Given the description of an element on the screen output the (x, y) to click on. 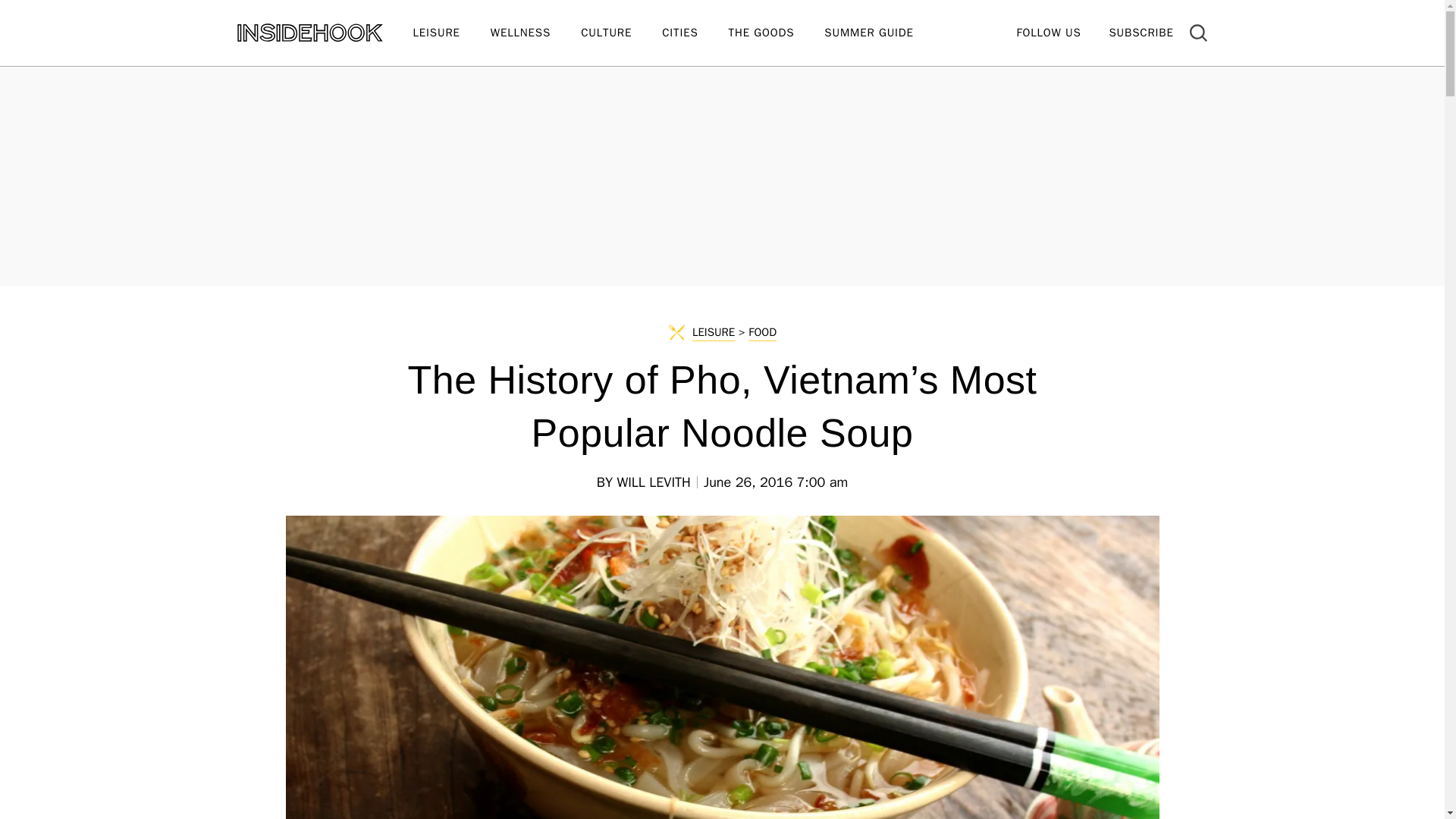
SUMMER GUIDE (883, 32)
FOLLOW US (1048, 32)
CULTURE (621, 32)
CITIES (695, 32)
SUBSCRIBE (1140, 32)
WELLNESS (535, 32)
THE GOODS (777, 32)
LEISURE (450, 32)
